Given the description of an element on the screen output the (x, y) to click on. 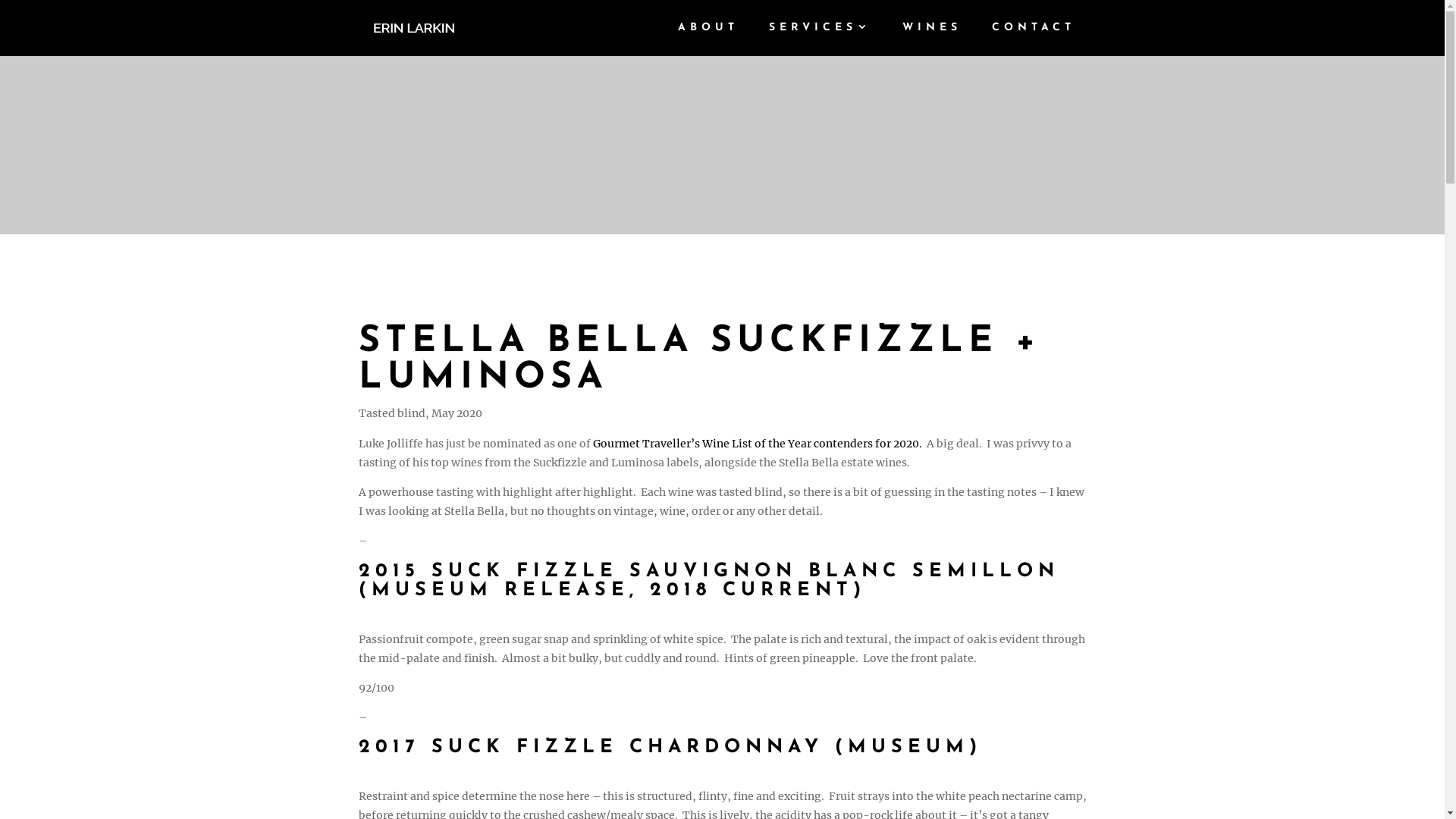
SERVICES Element type: text (820, 39)
ABOUT Element type: text (707, 39)
CONTACT Element type: text (1033, 39)
WINES Element type: text (931, 39)
